Given the description of an element on the screen output the (x, y) to click on. 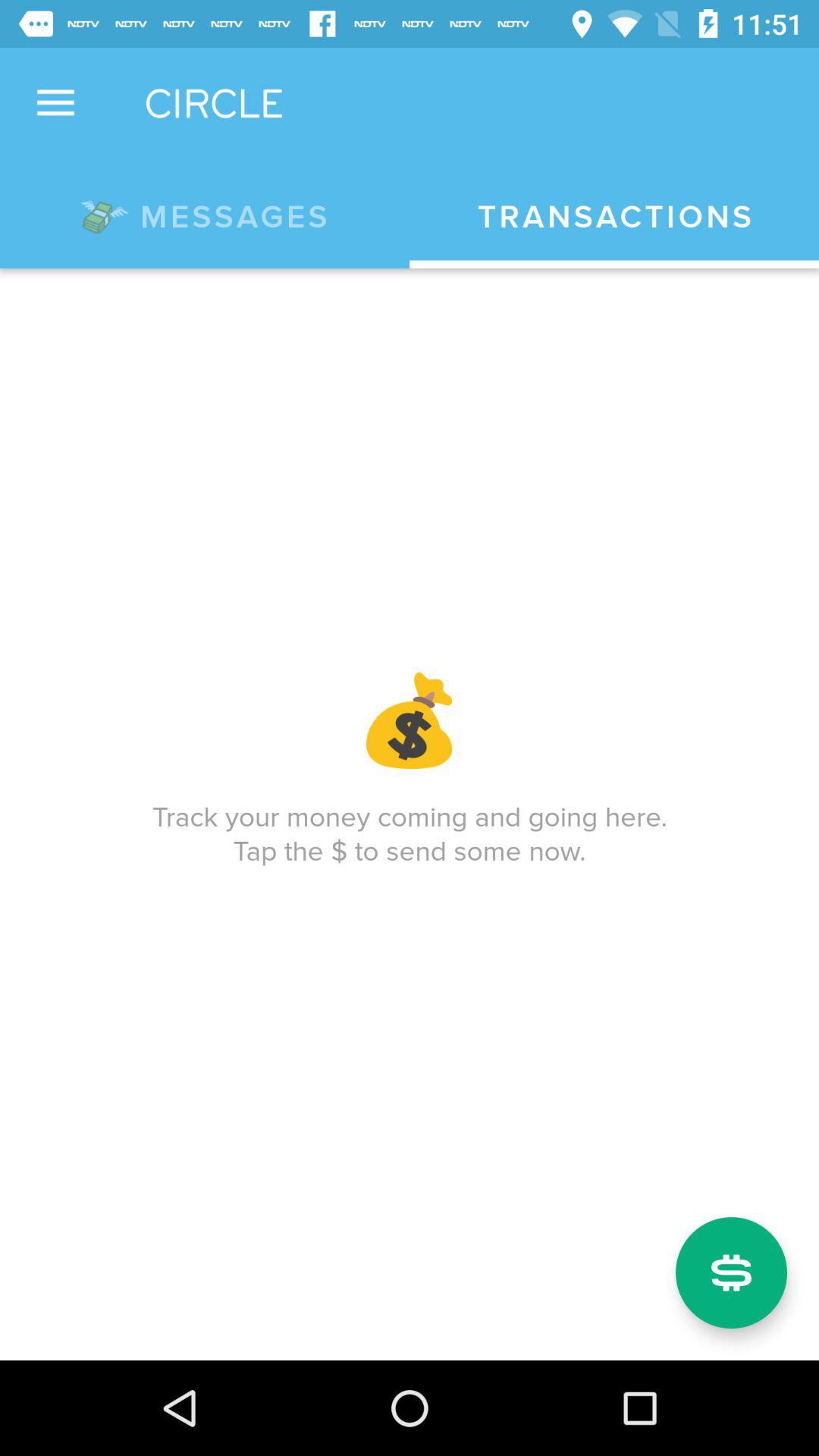
flip until the transactions item (614, 217)
